Given the description of an element on the screen output the (x, y) to click on. 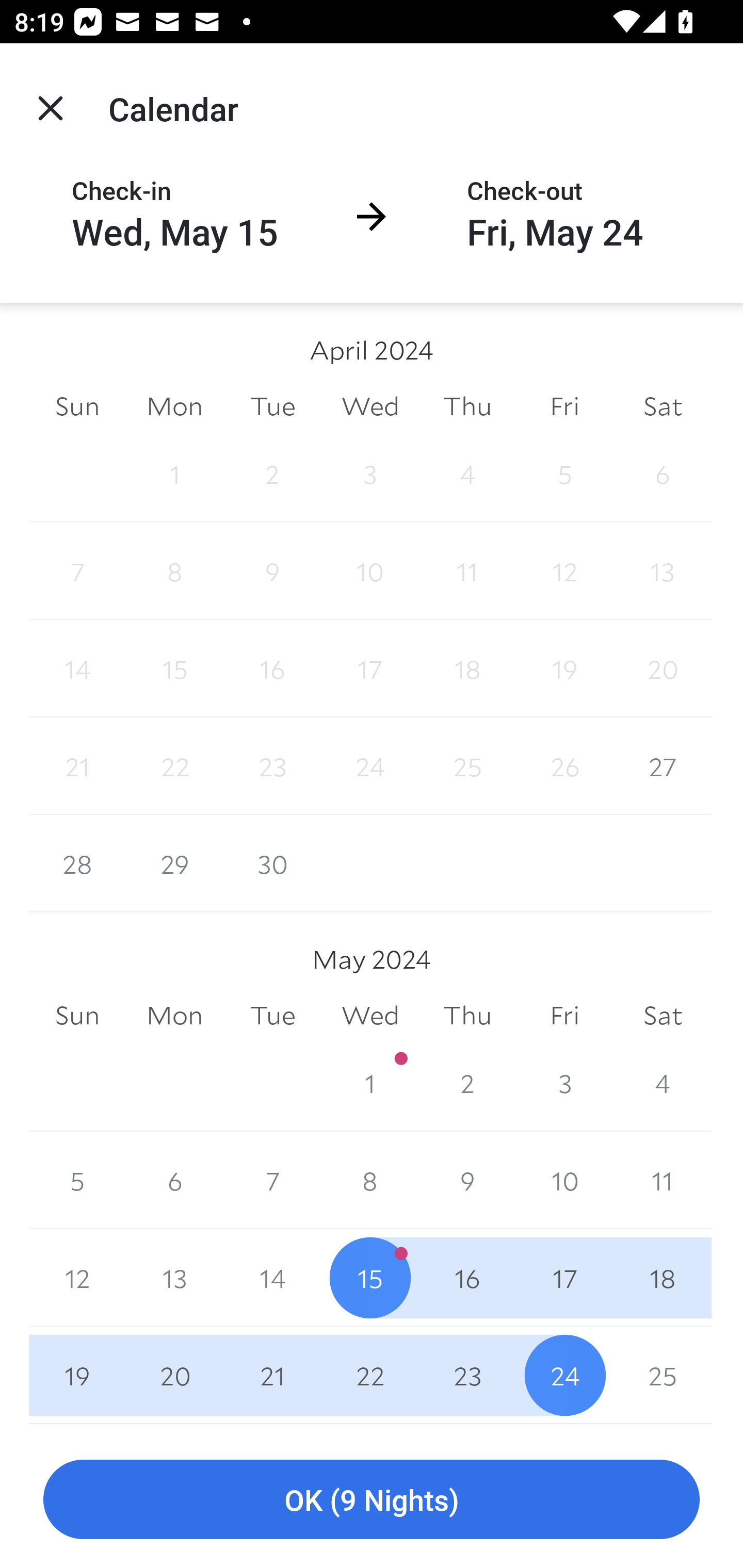
Sun (77, 405)
Mon (174, 405)
Tue (272, 405)
Wed (370, 405)
Thu (467, 405)
Fri (564, 405)
Sat (662, 405)
1 1 April 2024 (174, 473)
2 2 April 2024 (272, 473)
3 3 April 2024 (370, 473)
4 4 April 2024 (467, 473)
5 5 April 2024 (564, 473)
6 6 April 2024 (662, 473)
7 7 April 2024 (77, 570)
8 8 April 2024 (174, 570)
9 9 April 2024 (272, 570)
10 10 April 2024 (370, 570)
11 11 April 2024 (467, 570)
12 12 April 2024 (564, 570)
13 13 April 2024 (662, 570)
14 14 April 2024 (77, 668)
15 15 April 2024 (174, 668)
16 16 April 2024 (272, 668)
17 17 April 2024 (370, 668)
18 18 April 2024 (467, 668)
19 19 April 2024 (564, 668)
20 20 April 2024 (662, 668)
21 21 April 2024 (77, 766)
22 22 April 2024 (174, 766)
23 23 April 2024 (272, 766)
24 24 April 2024 (370, 766)
25 25 April 2024 (467, 766)
26 26 April 2024 (564, 766)
27 27 April 2024 (662, 766)
28 28 April 2024 (77, 863)
29 29 April 2024 (174, 863)
30 30 April 2024 (272, 863)
Sun (77, 1015)
Mon (174, 1015)
Tue (272, 1015)
Wed (370, 1015)
Thu (467, 1015)
Fri (564, 1015)
Sat (662, 1015)
1 1 May 2024 (370, 1083)
2 2 May 2024 (467, 1083)
3 3 May 2024 (564, 1083)
4 4 May 2024 (662, 1083)
5 5 May 2024 (77, 1180)
